Given the description of an element on the screen output the (x, y) to click on. 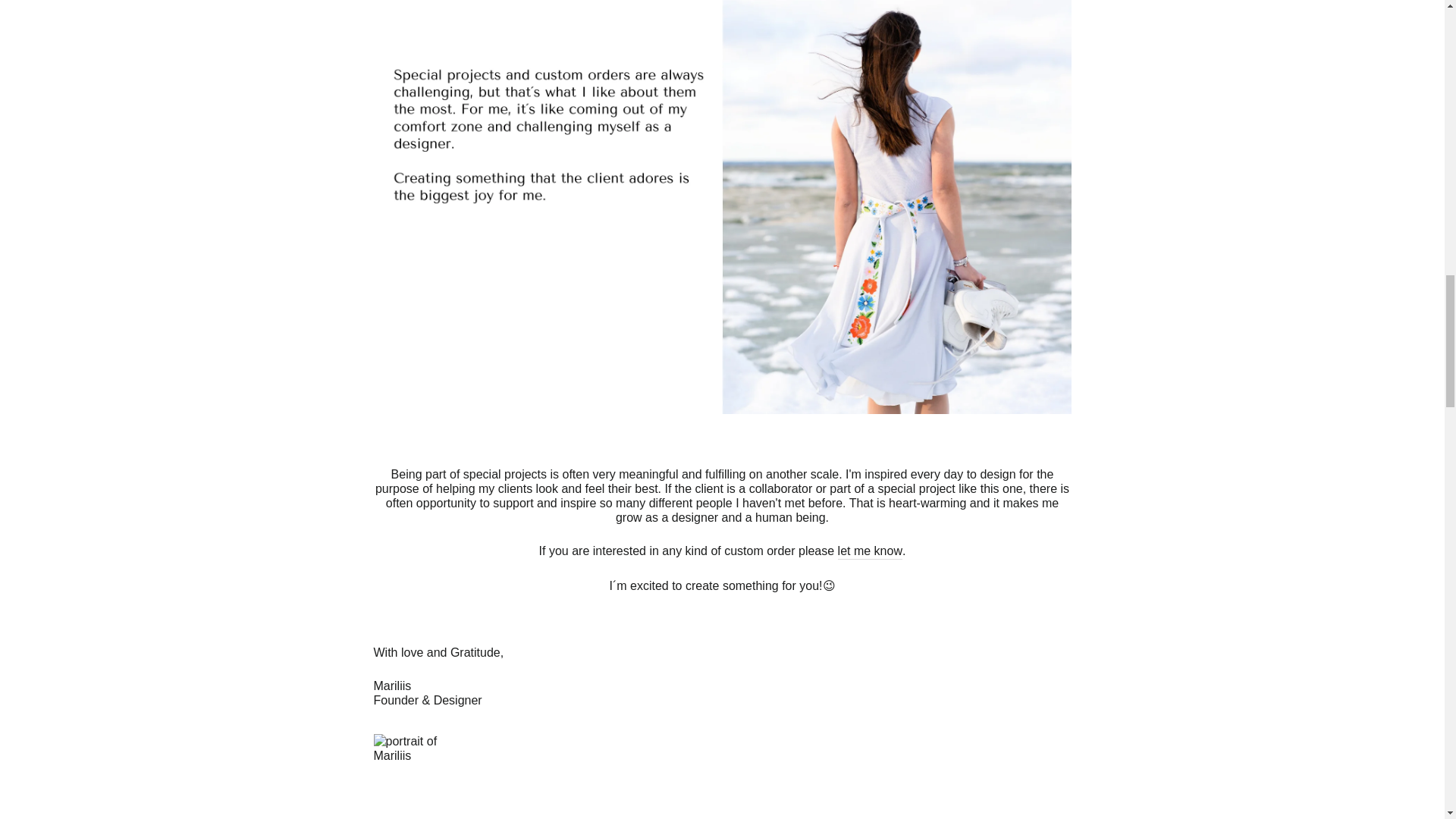
click here to contact us  (870, 550)
